Given the description of an element on the screen output the (x, y) to click on. 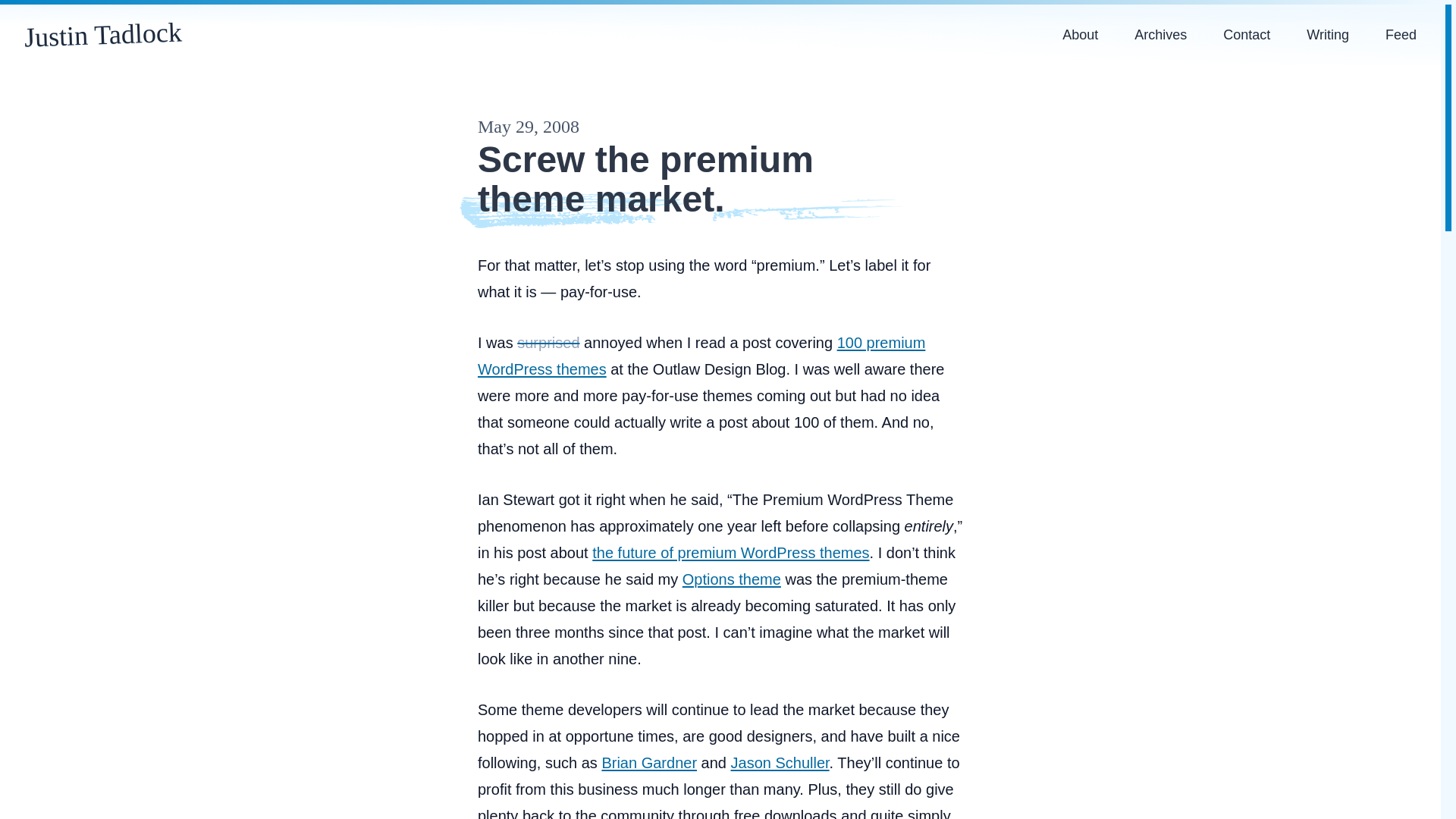
Options theme (731, 579)
Jason Schuller (779, 762)
Options WordPress theme (731, 579)
100 premium WordPress themes (700, 355)
Brian Gardner (649, 762)
Contact (1246, 34)
WP Elements (779, 762)
Feed (1400, 34)
the future of premium WordPress themes (730, 552)
Archives (1160, 34)
The future of premium WordPress themes (730, 552)
Justin Tadlock (101, 31)
100 premium WordPress themes (700, 355)
About (1079, 34)
Brian Gardner (649, 762)
